Given the description of an element on the screen output the (x, y) to click on. 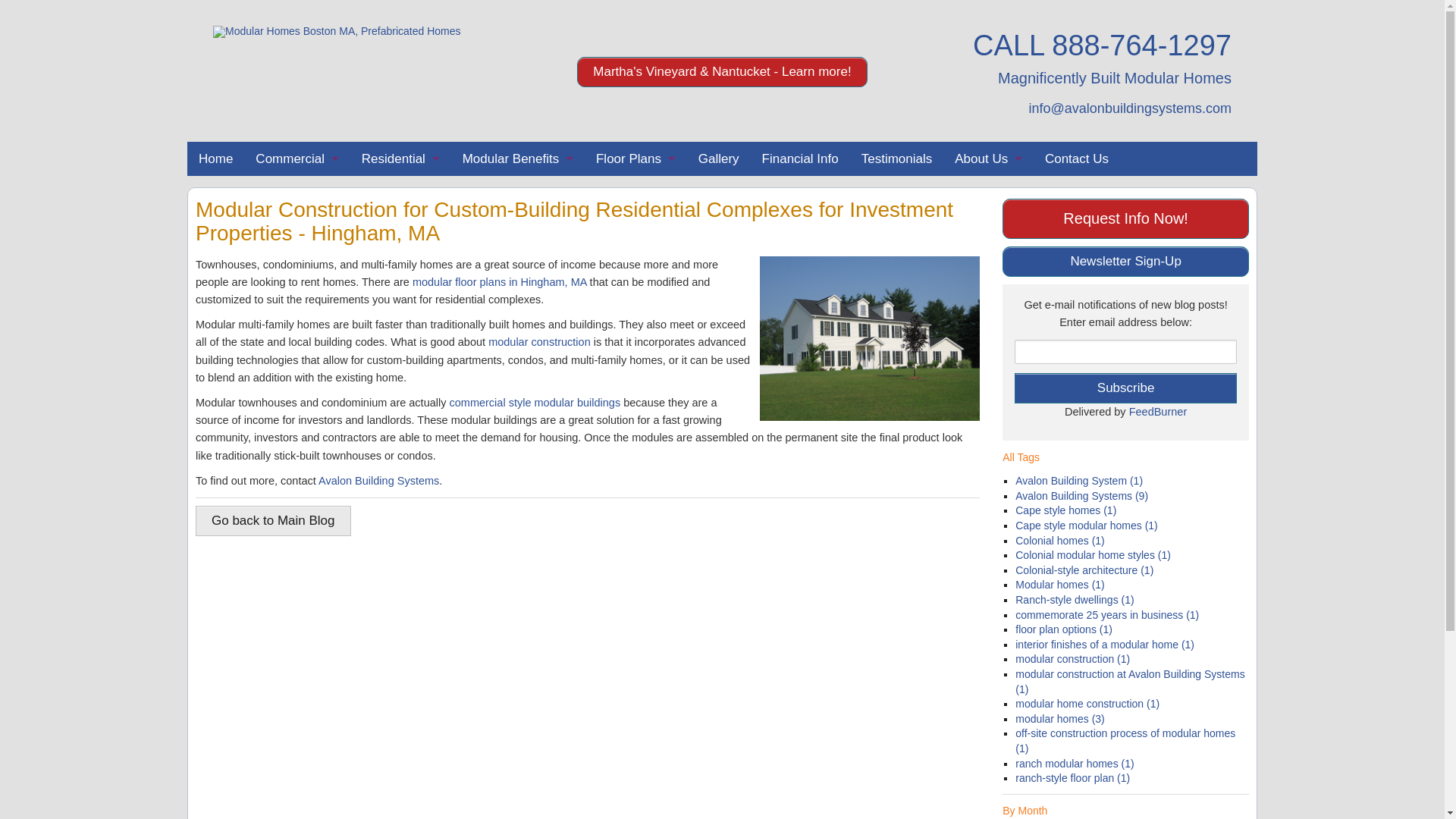
Financial Info (800, 158)
Modular Benefits (518, 158)
Testimonials (896, 158)
Subscribe (1125, 388)
Gallery (719, 158)
Residential (400, 158)
Floor Plans (636, 158)
About Us (988, 158)
Commercial (296, 158)
Home (215, 158)
